Given the description of an element on the screen output the (x, y) to click on. 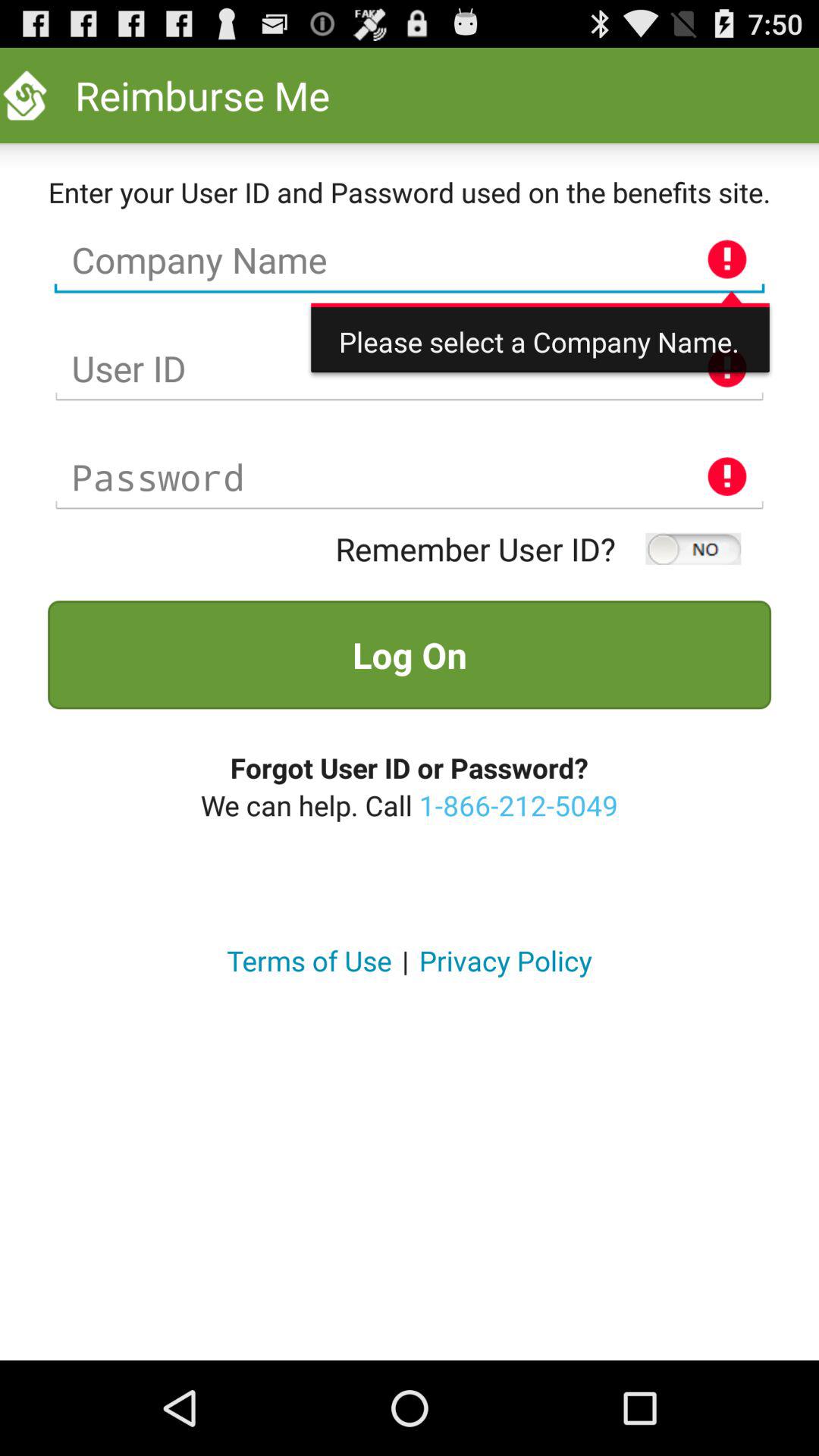
user id option (409, 368)
